Given the description of an element on the screen output the (x, y) to click on. 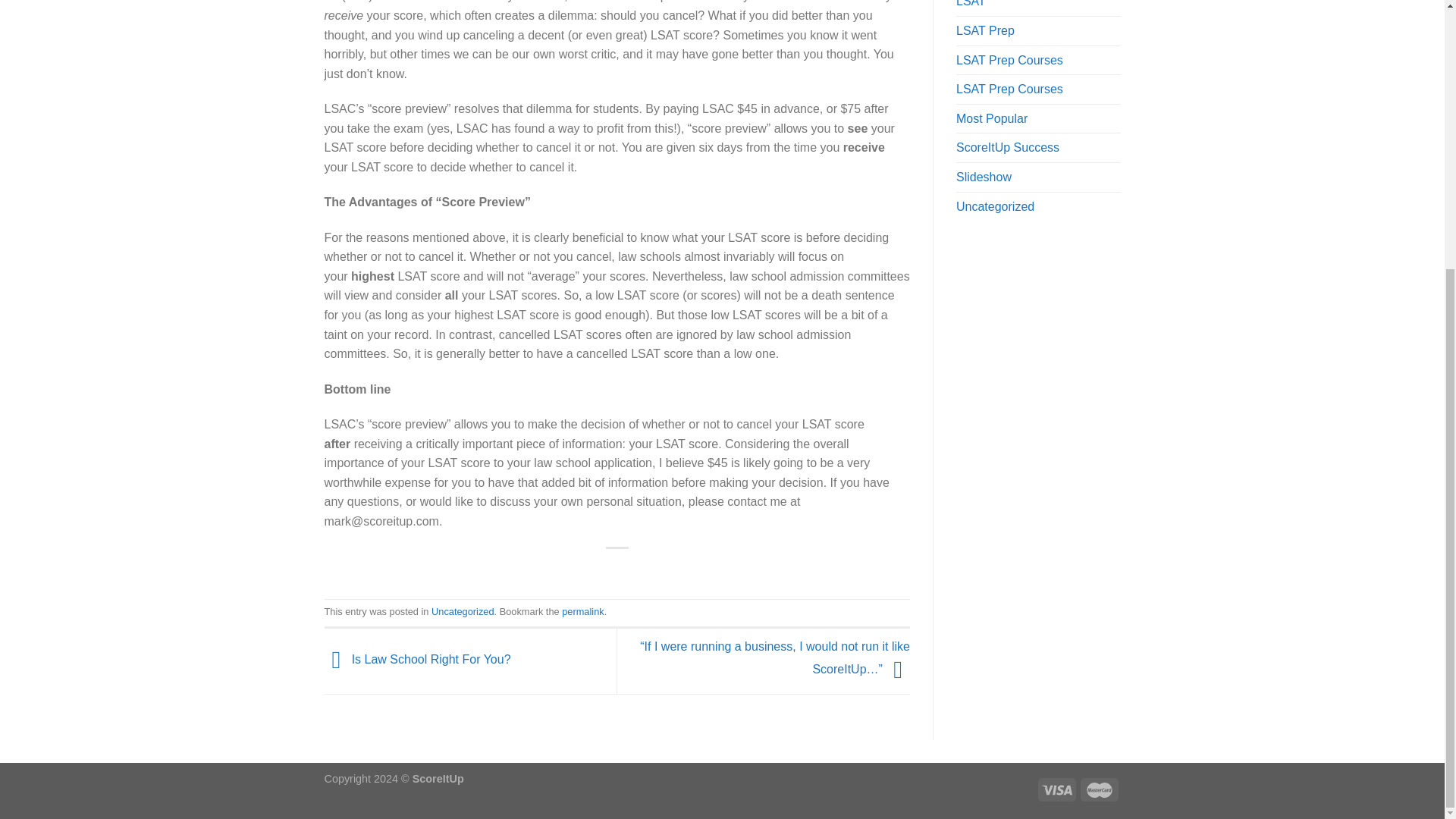
Is Law School Right For You? (417, 659)
Uncategorized (462, 611)
permalink (583, 611)
